Given the description of an element on the screen output the (x, y) to click on. 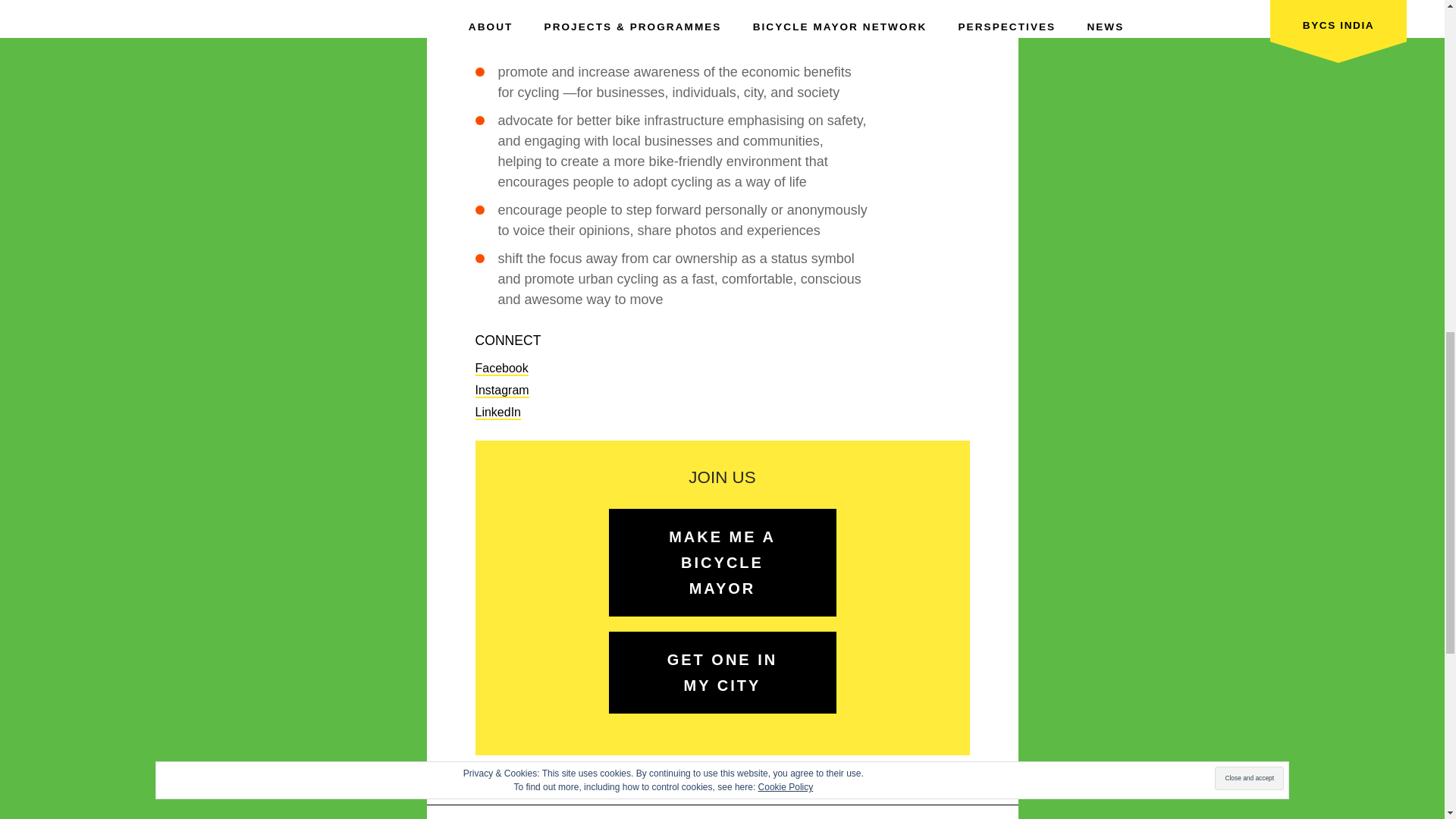
LinkedIn (497, 412)
MAKE ME A BICYCLE MAYOR (721, 562)
Instagram (501, 391)
GET ONE IN MY CITY (721, 672)
Facebook (500, 368)
